Given the description of an element on the screen output the (x, y) to click on. 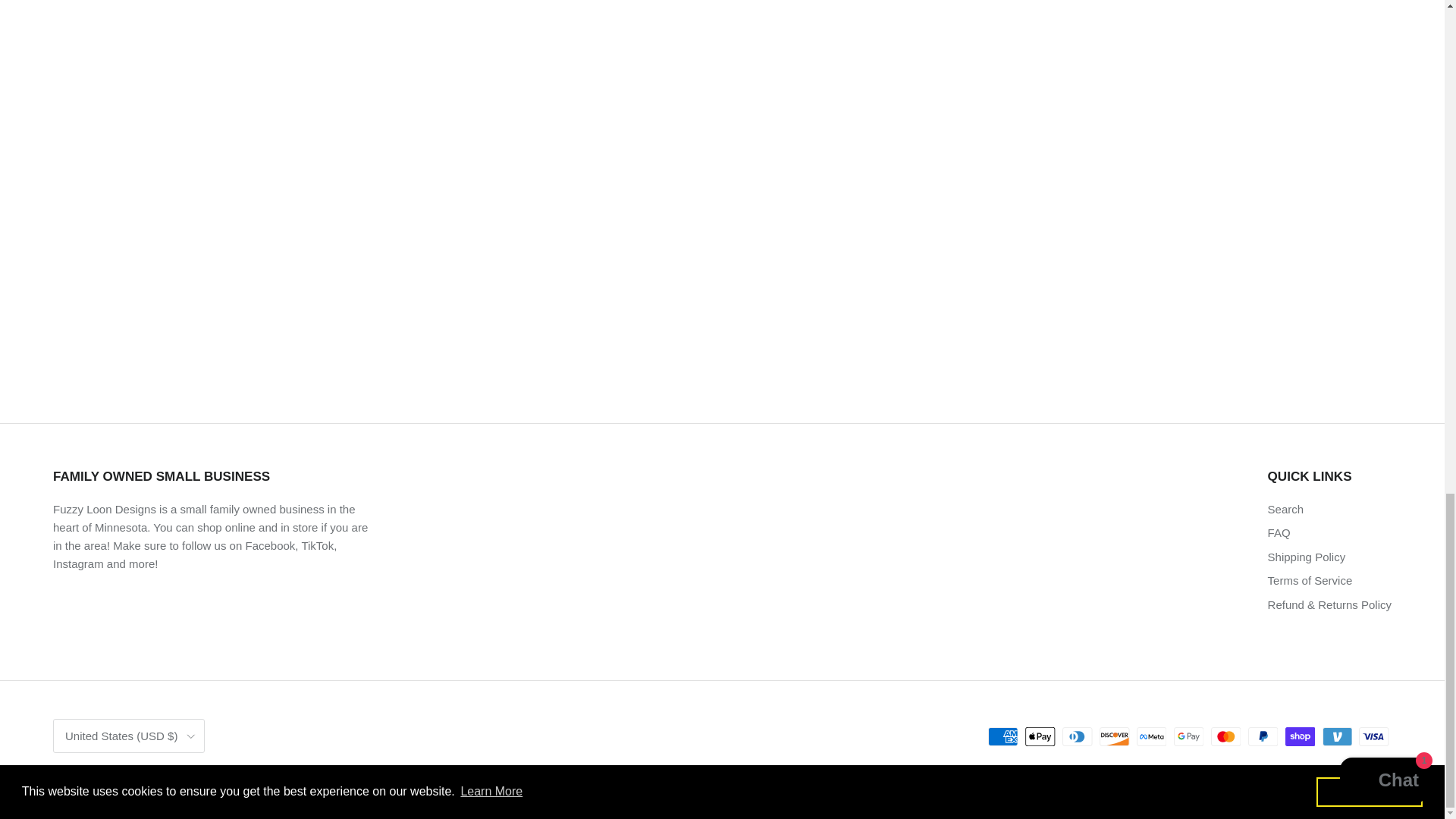
PayPal (1262, 736)
Diners Club (1077, 736)
Venmo (1337, 736)
Discover (1114, 736)
Shop Pay (1299, 736)
Apple Pay (1040, 736)
Mastercard (1225, 736)
Visa (1373, 736)
Meta Pay (1151, 736)
Google Pay (1188, 736)
American Express (1002, 736)
